Given the description of an element on the screen output the (x, y) to click on. 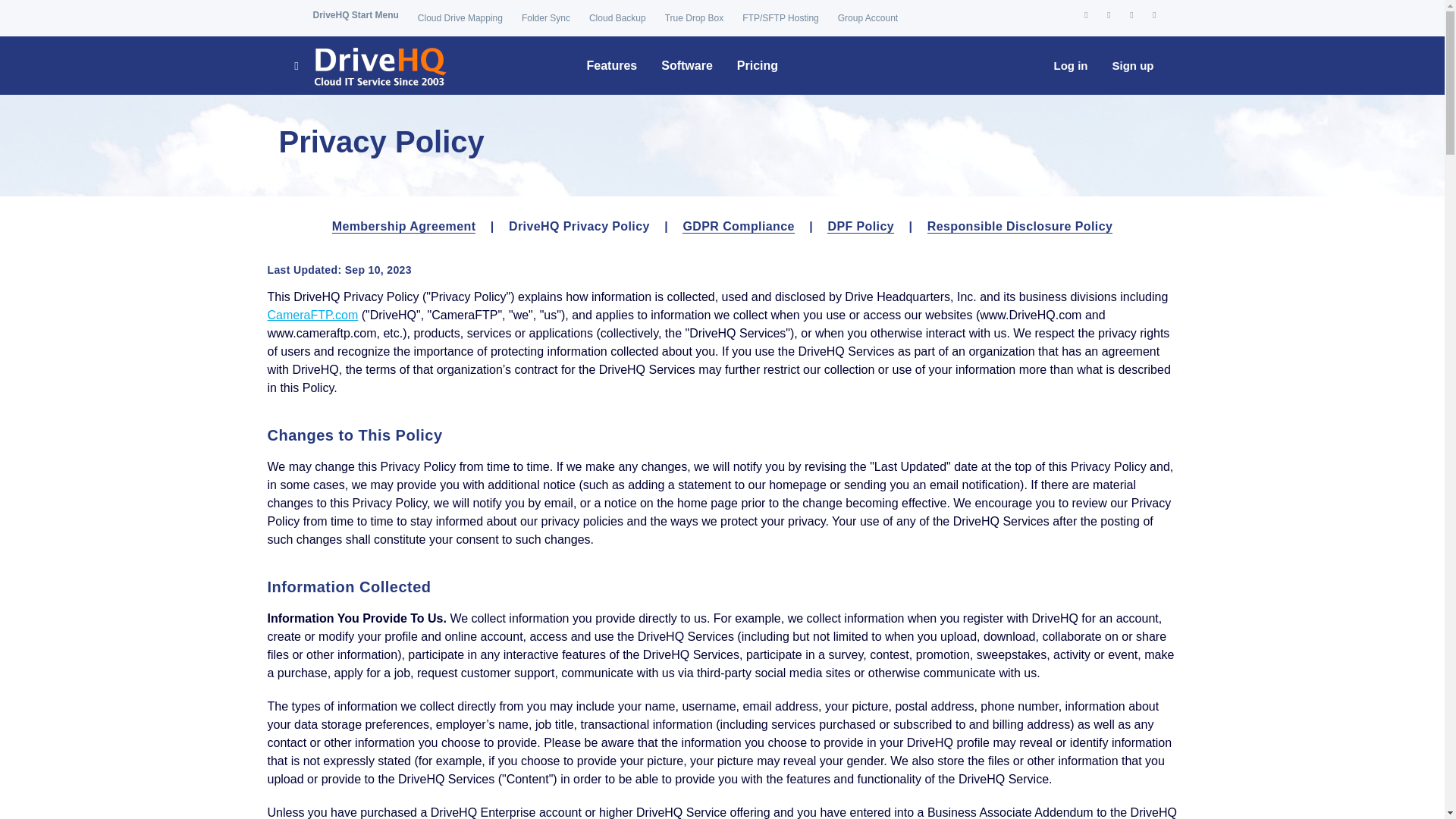
DriveHQ Cloud IT Service Home (369, 65)
Group Account (868, 18)
DriveHQ Start Menu (355, 15)
Cloud Backup (617, 18)
Folder Sync (545, 18)
Automatically back up PC, Mac and Server to the cloud (617, 18)
Complete FTP Server hosting solution (780, 18)
Cloud Drive Mapping (459, 18)
True Drop Box (694, 18)
